Given the description of an element on the screen output the (x, y) to click on. 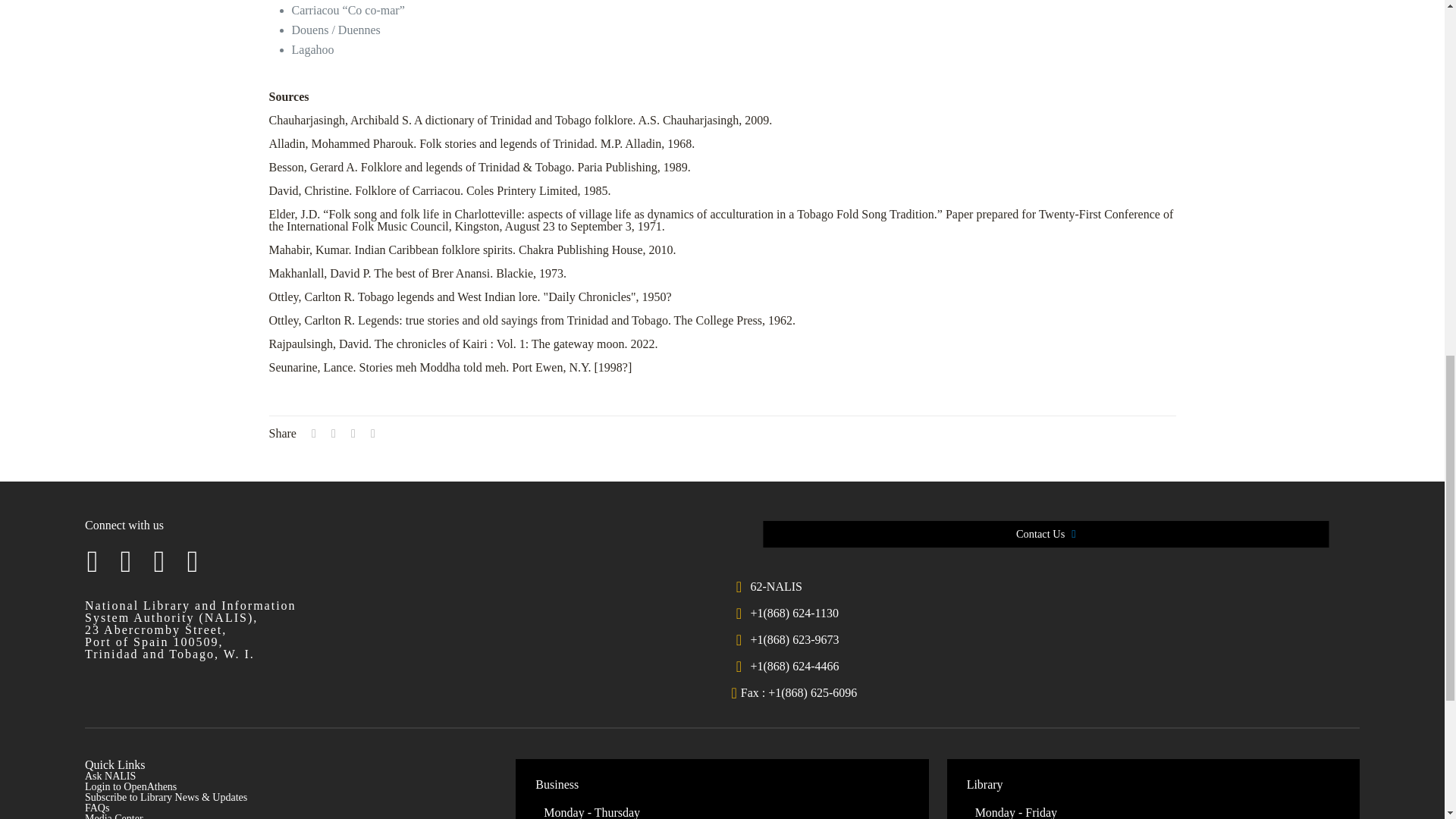
FAQs (96, 808)
NALIS on Facebook (92, 562)
NALIS on YouTube (192, 562)
NALIS on Instagram (159, 562)
NALIS on Twitter (125, 562)
Ask NALIS (109, 776)
Media Center (113, 816)
Contact Us (1076, 534)
Login to OpenAthens (130, 786)
